Given the description of an element on the screen output the (x, y) to click on. 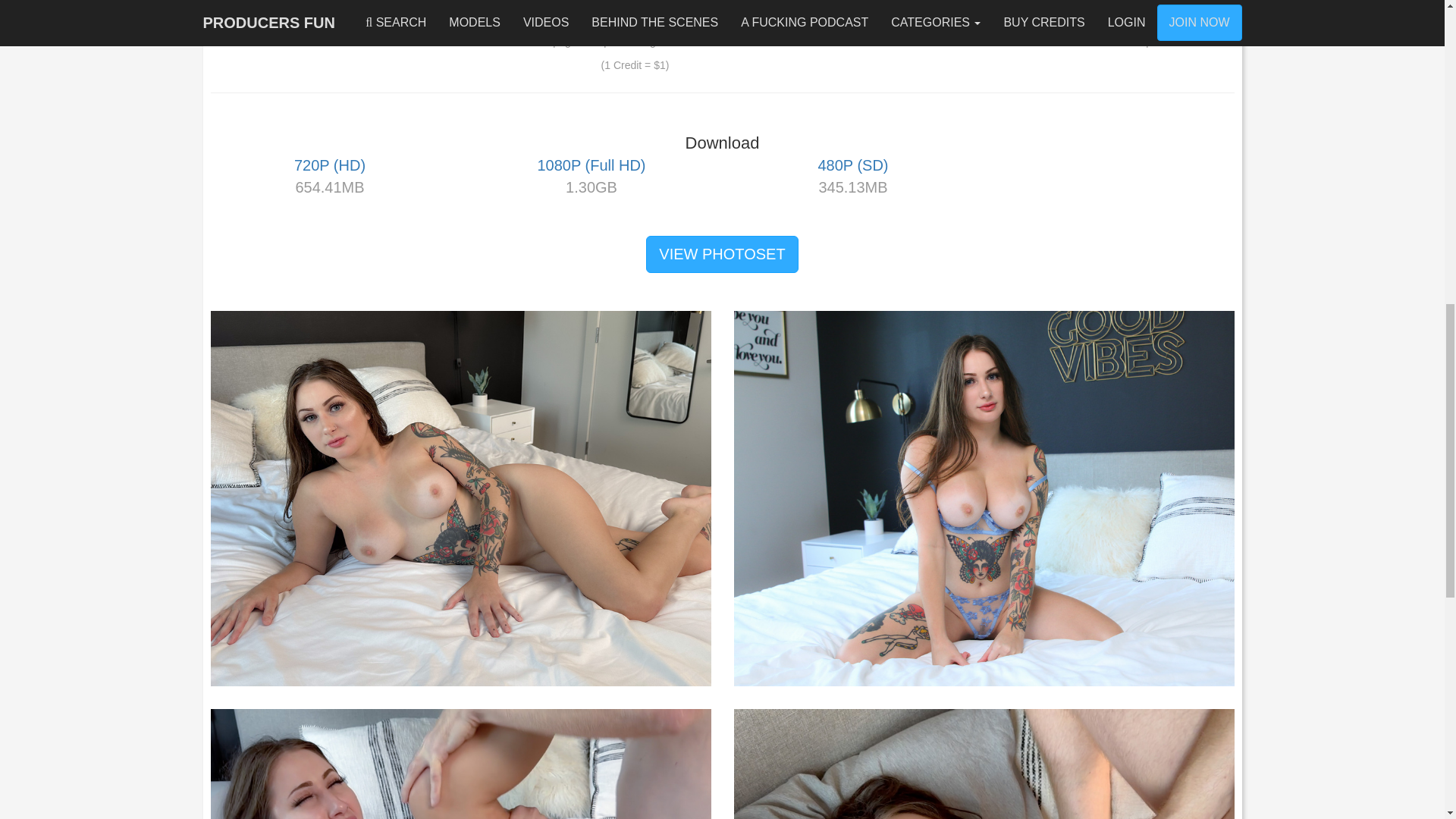
PURCHASE VIDEO FOR 15 CREDITS (635, 13)
VIEW PHOTOSET (721, 253)
GET A SUBSCRIPTION NOW (1070, 13)
